Given the description of an element on the screen output the (x, y) to click on. 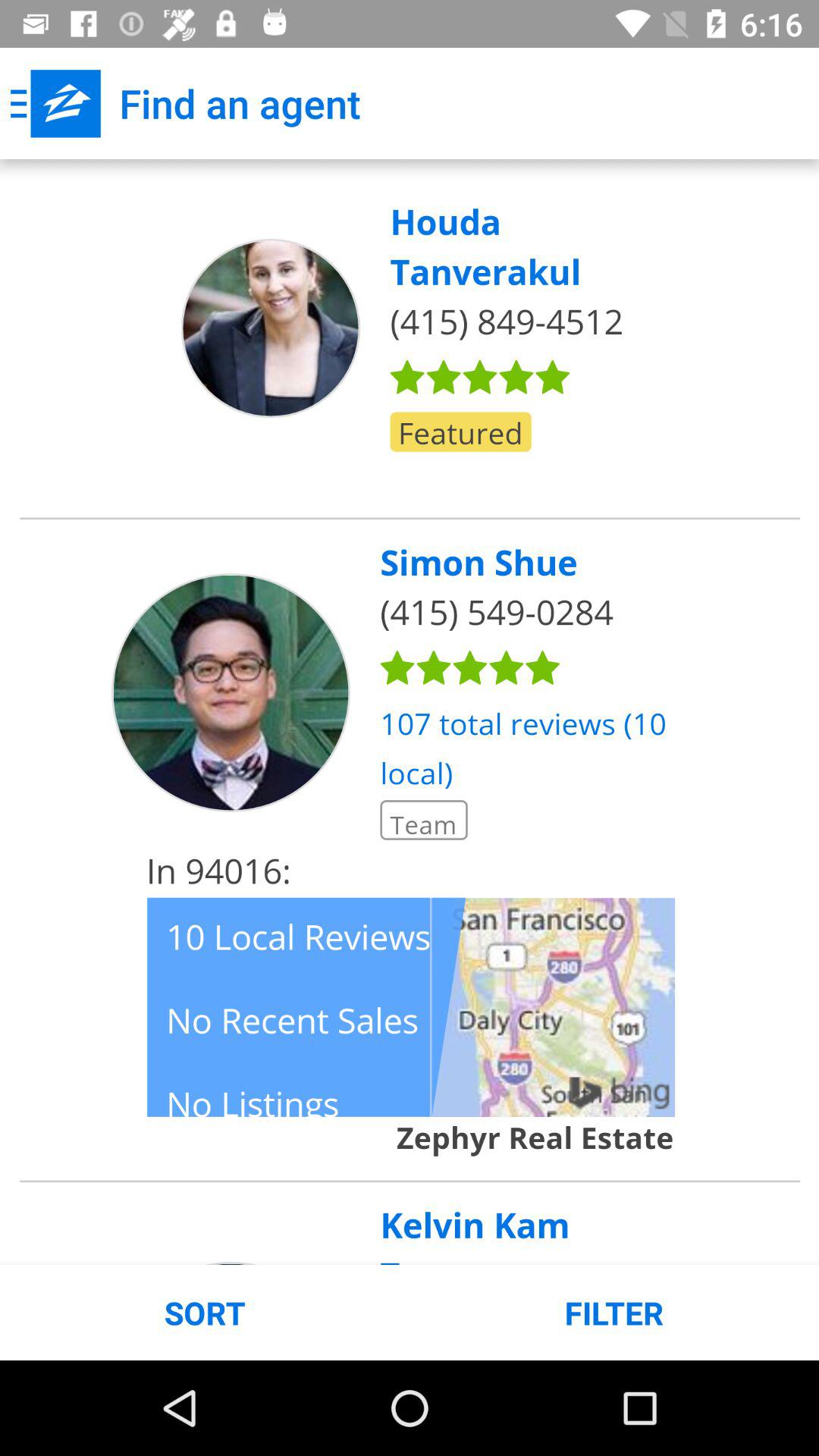
read reviews (409, 711)
